Given the description of an element on the screen output the (x, y) to click on. 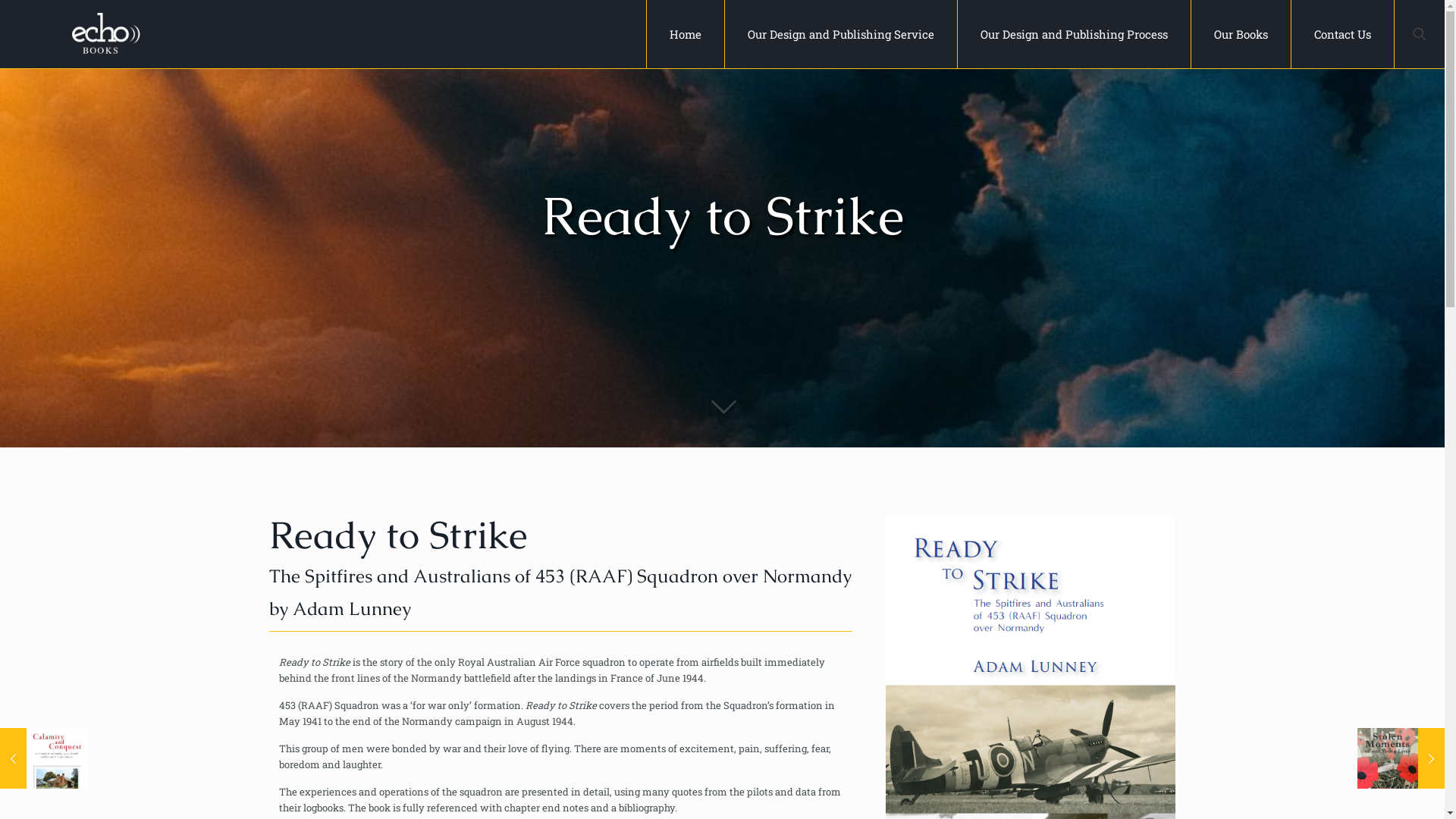
Contact Us Element type: text (1342, 34)
Privacy Policy Element type: text (814, 741)
Home Element type: text (685, 34)
Echo Books Element type: hover (106, 34)
Our Books Element type: text (882, 764)
Our Design and Publishing Process Element type: text (767, 764)
Our Design and Publishing Process Element type: text (1074, 34)
Contact Us Element type: text (943, 764)
Our Design and Publishing Service Element type: text (840, 34)
Contact Us Element type: text (722, 615)
Home Element type: text (489, 764)
Our Books Element type: text (1241, 34)
Our Design and Publishing Service Element type: text (595, 764)
